Given the description of an element on the screen output the (x, y) to click on. 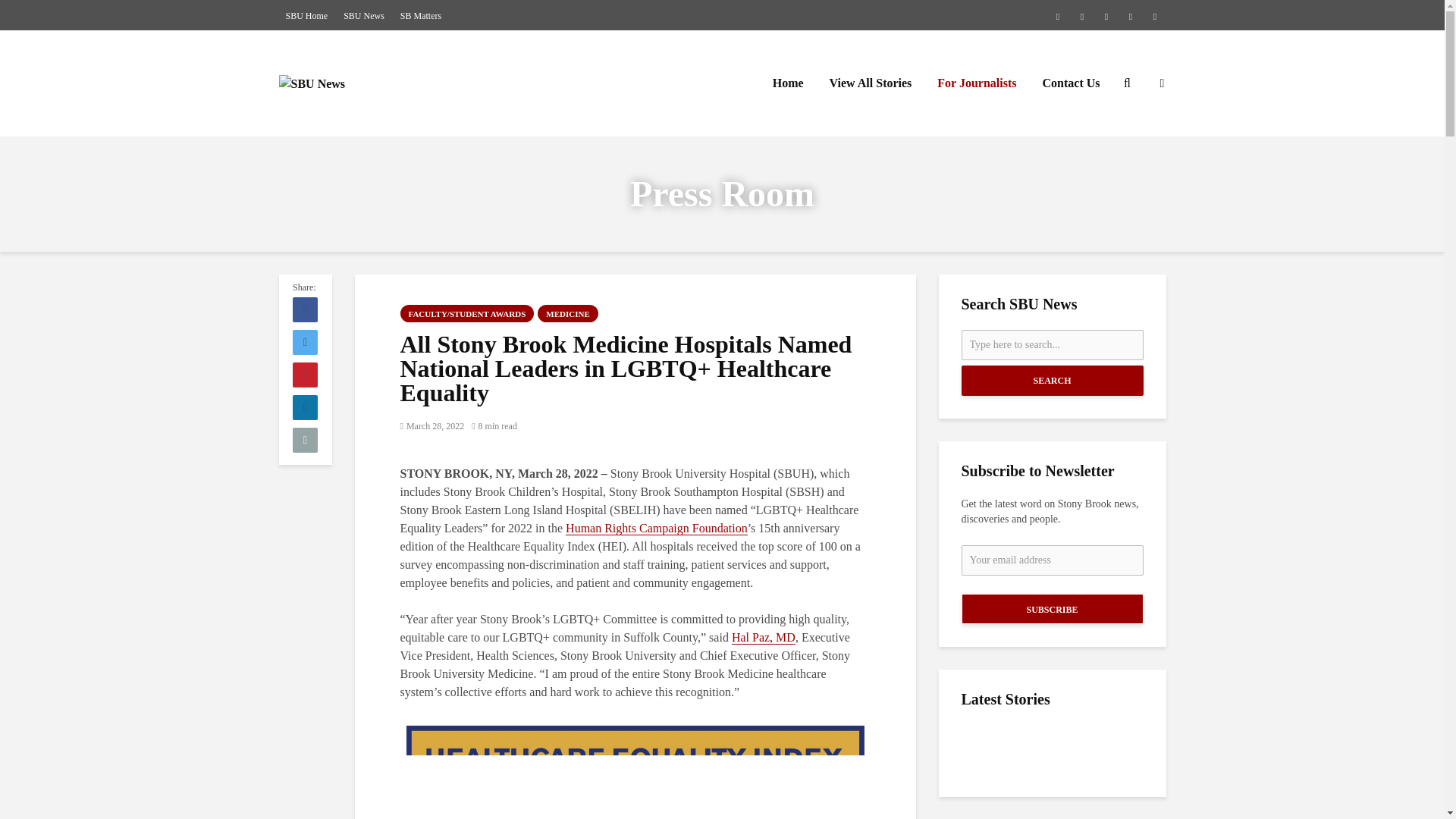
SBU Home (306, 15)
For Journalists (976, 82)
SB Matters (420, 15)
Home (788, 82)
Contact Us (1071, 82)
2022 hei leader (635, 769)
Subscribe (1051, 608)
SBU News (363, 15)
View All Stories (870, 82)
